Given the description of an element on the screen output the (x, y) to click on. 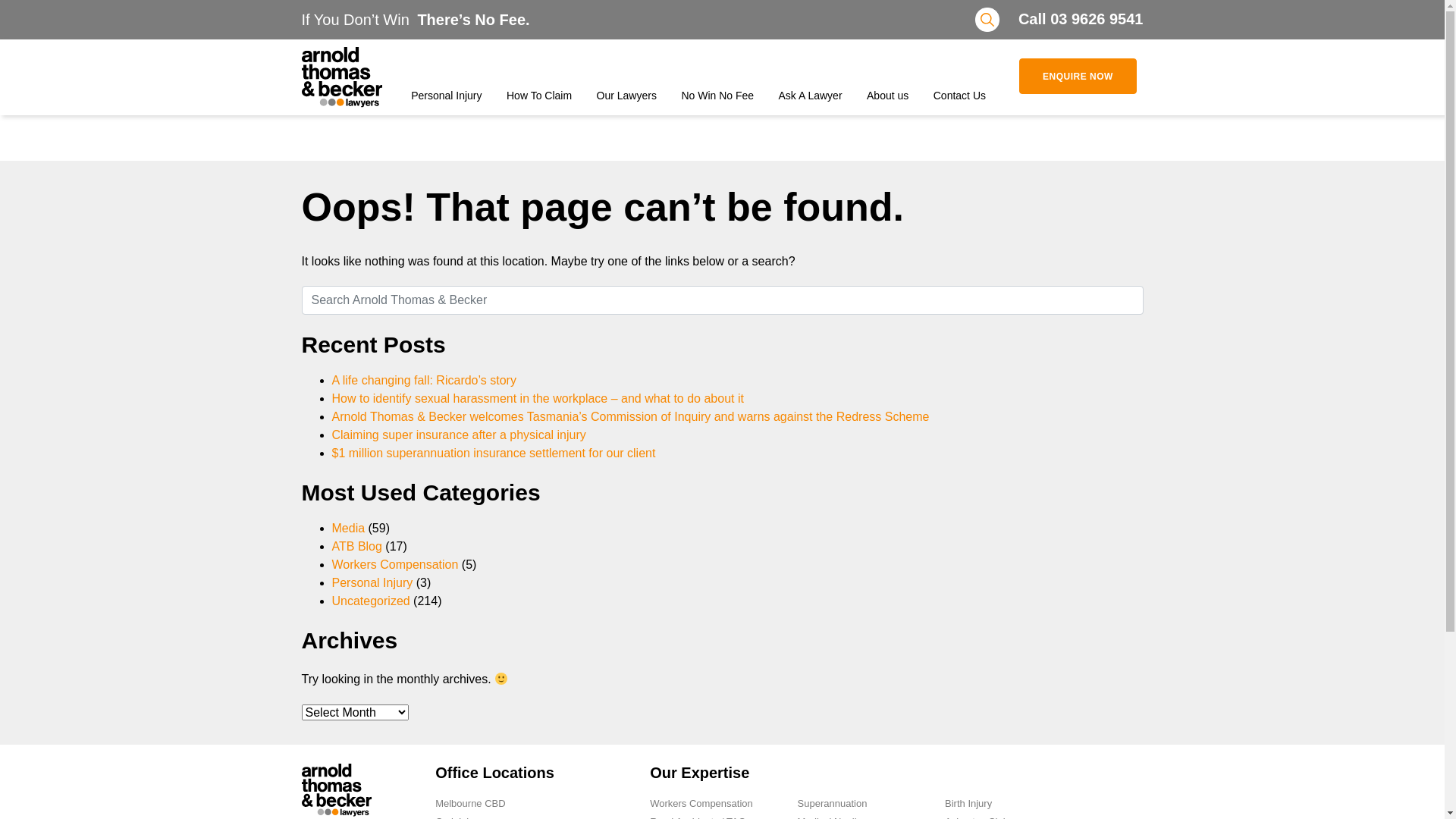
Superannuation Element type: text (832, 803)
Personal Injury Element type: text (446, 77)
Media Element type: text (348, 527)
Contact Us Element type: text (959, 77)
ENQUIRE NOW Element type: text (1077, 76)
Our Lawyers Element type: text (626, 77)
Personal Injury Element type: text (372, 582)
No Win No Fee Element type: text (717, 77)
Birth Injury Element type: text (967, 803)
How To Claim Element type: text (538, 77)
Claiming super insurance after a physical injury Element type: text (459, 434)
Melbourne CBD Element type: text (470, 803)
Ask A Lawyer Element type: text (810, 77)
Workers Compensation Element type: text (701, 803)
Workers Compensation Element type: text (395, 564)
ATB Blog Element type: text (357, 545)
About us Element type: text (887, 77)
Uncategorized Element type: text (371, 600)
